Given the description of an element on the screen output the (x, y) to click on. 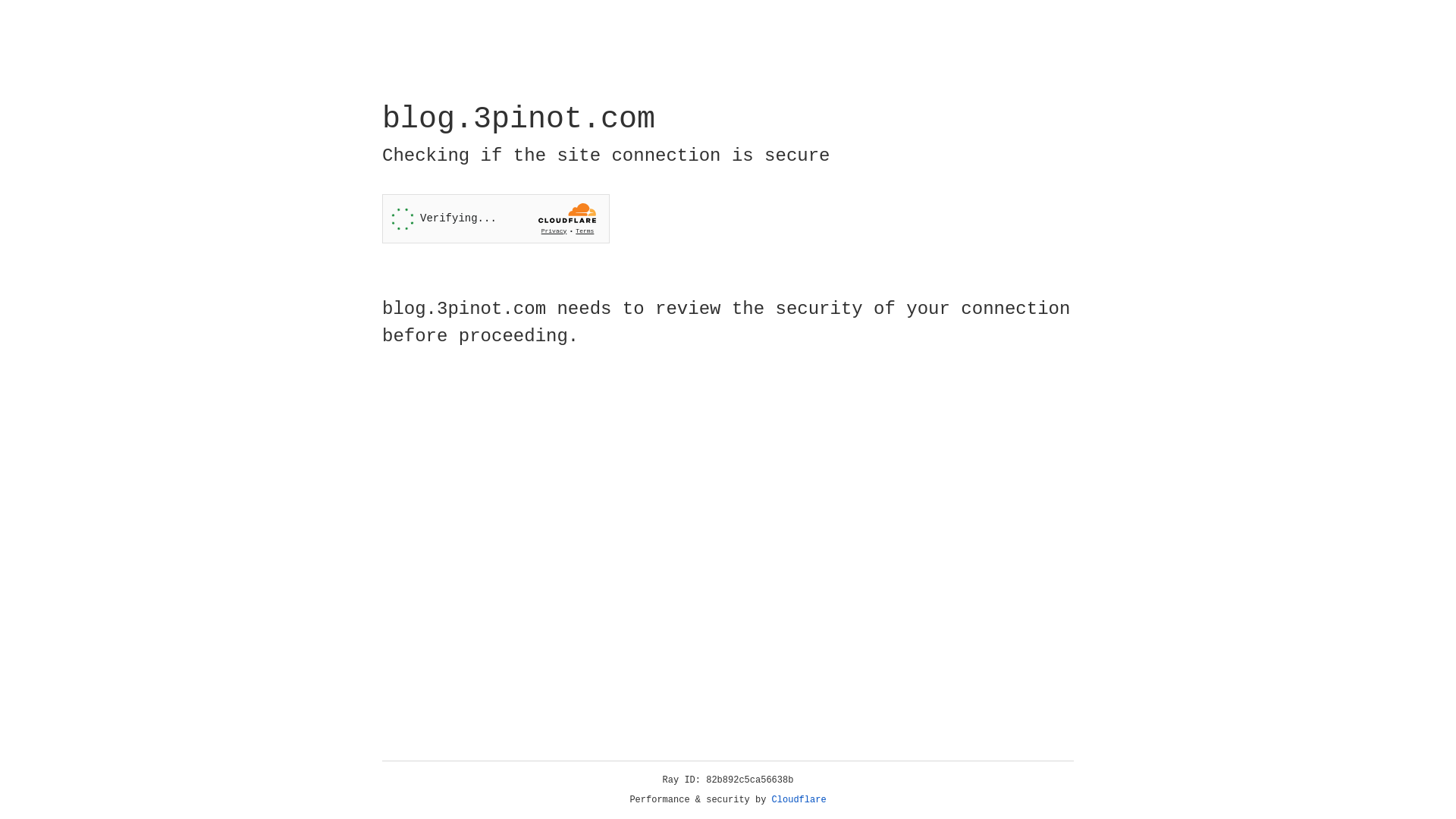
Cloudflare Element type: text (798, 799)
Widget containing a Cloudflare security challenge Element type: hover (495, 218)
